Given the description of an element on the screen output the (x, y) to click on. 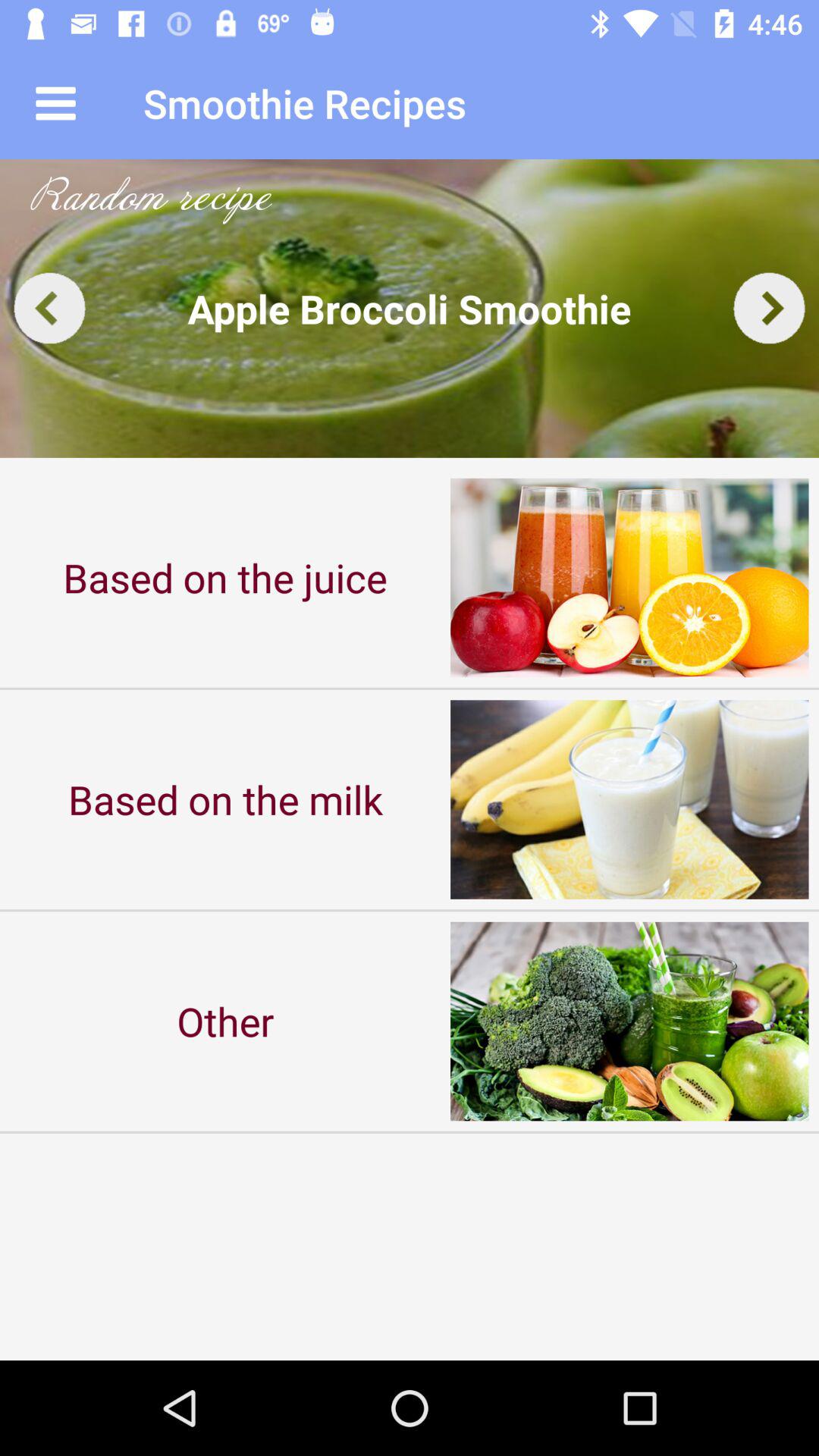
turn off item at the bottom left corner (225, 1020)
